Given the description of an element on the screen output the (x, y) to click on. 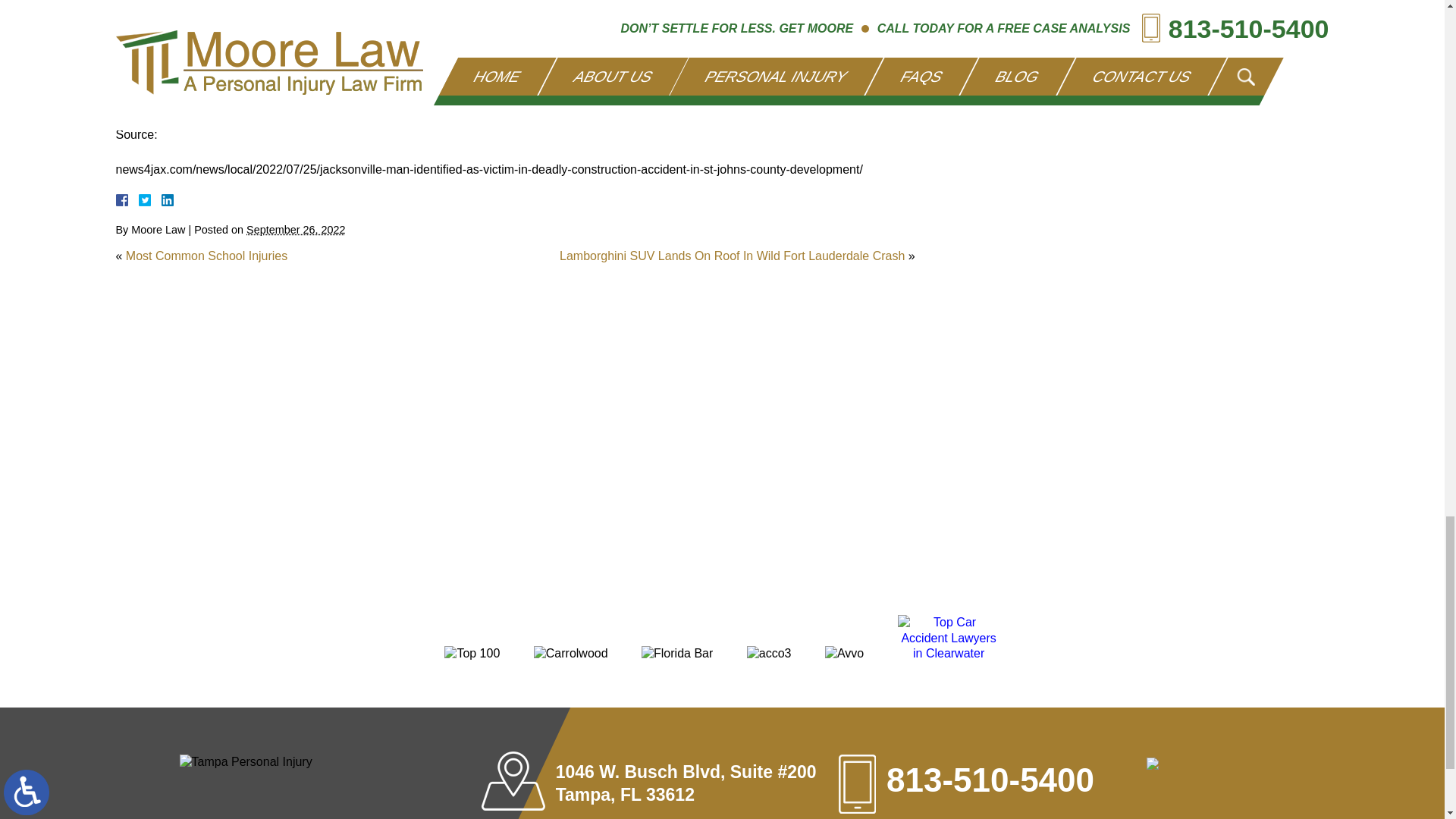
2022-09-26T03:00:57-0700 (295, 229)
Facebook (139, 200)
Twitter (149, 200)
LinkedIn (160, 200)
